Given the description of an element on the screen output the (x, y) to click on. 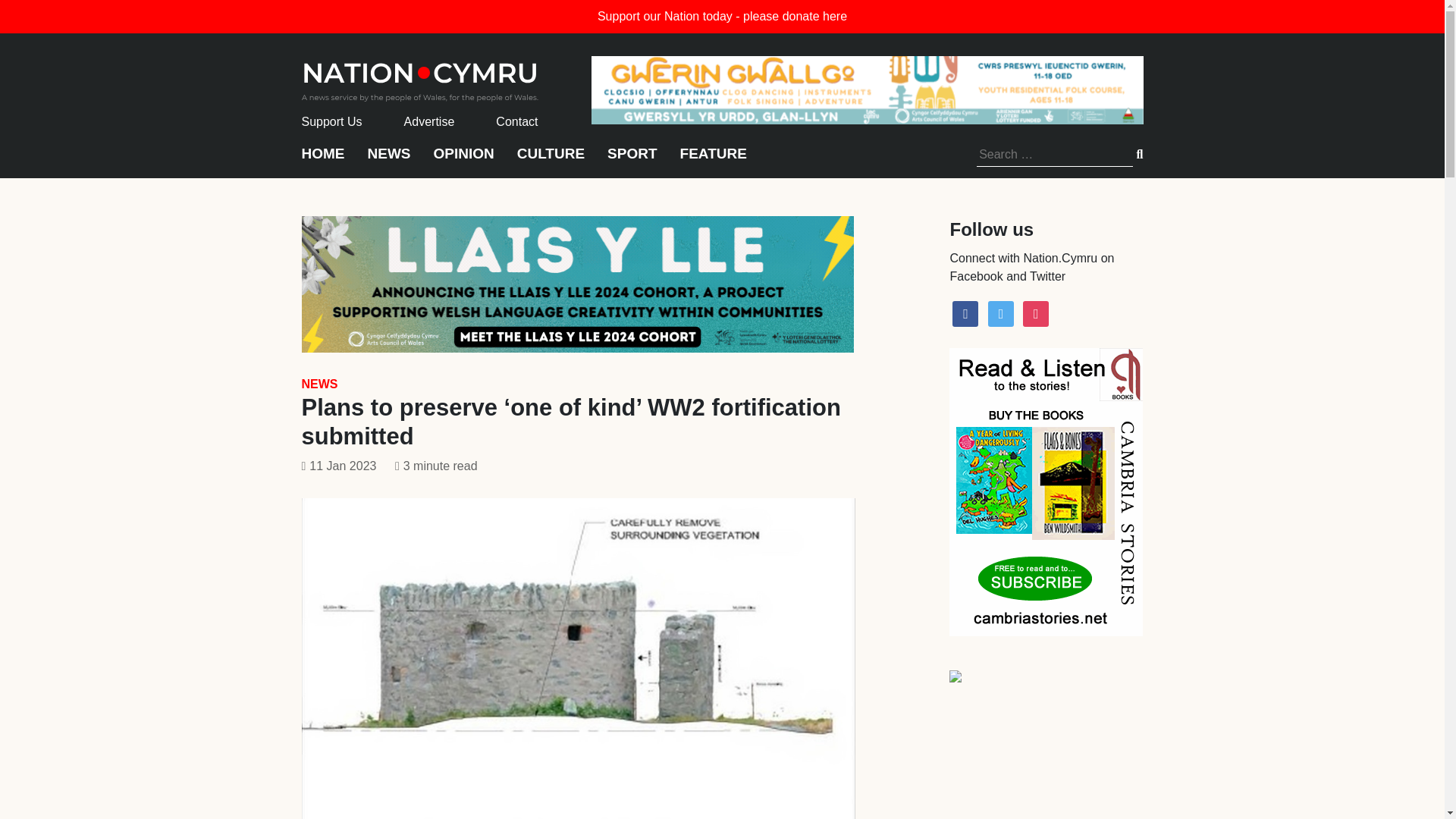
Advertise (429, 121)
Support Us (331, 121)
SPORT (631, 160)
NEWS (319, 383)
HOME (323, 160)
NEWS (388, 160)
CULTURE (550, 160)
Contact (516, 121)
home (419, 77)
FEATURE (712, 160)
